Given the description of an element on the screen output the (x, y) to click on. 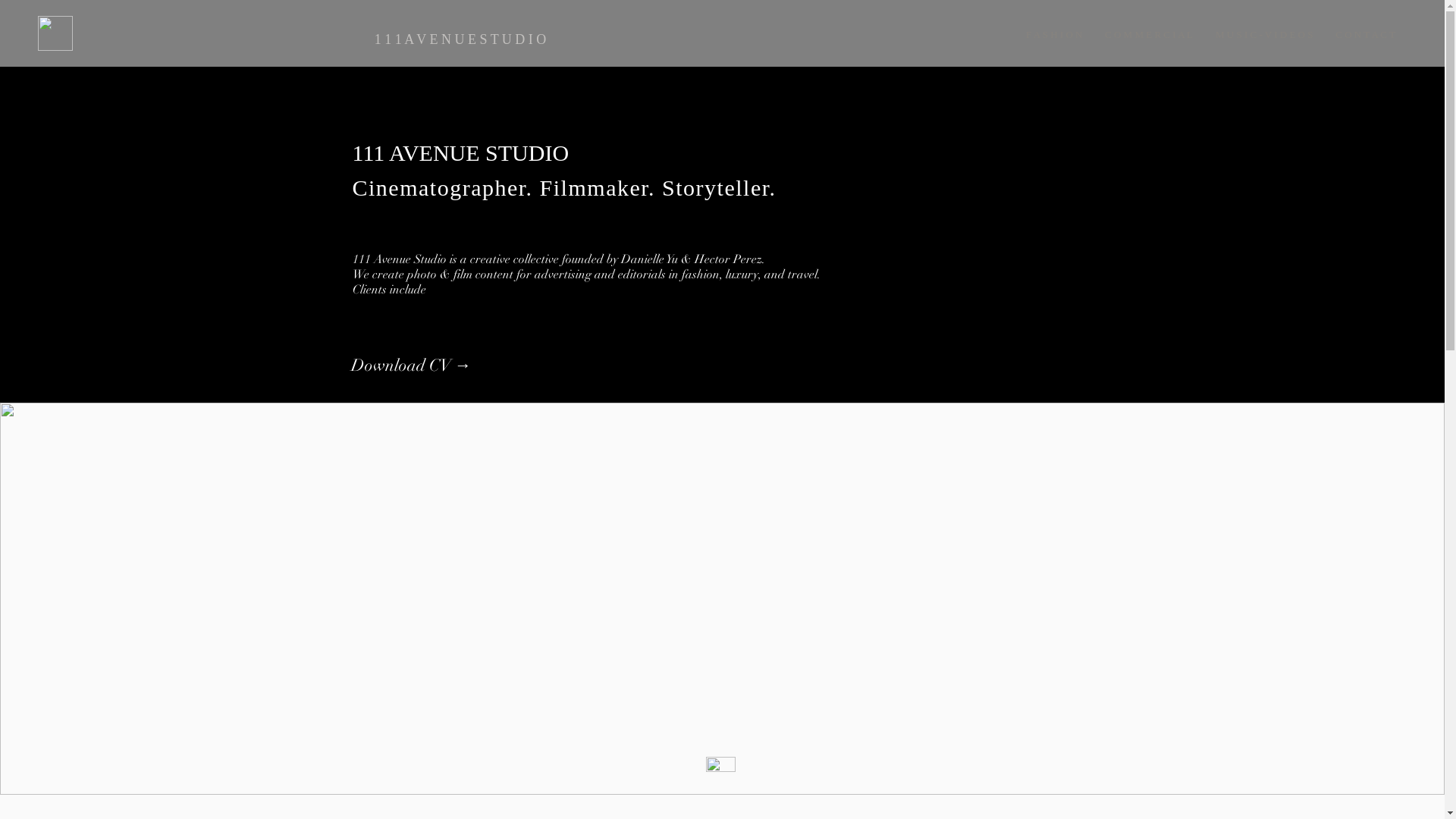
C O M M E R C I A L Element type: text (1148, 34)
F A S H I O N Element type: text (1053, 34)
1 1 1 A V E N U E S T U D I O Element type: text (460, 39)
C O N T A C T Element type: text (1365, 34)
M U S I C - V I D E O S Element type: text (1264, 34)
